Given the description of an element on the screen output the (x, y) to click on. 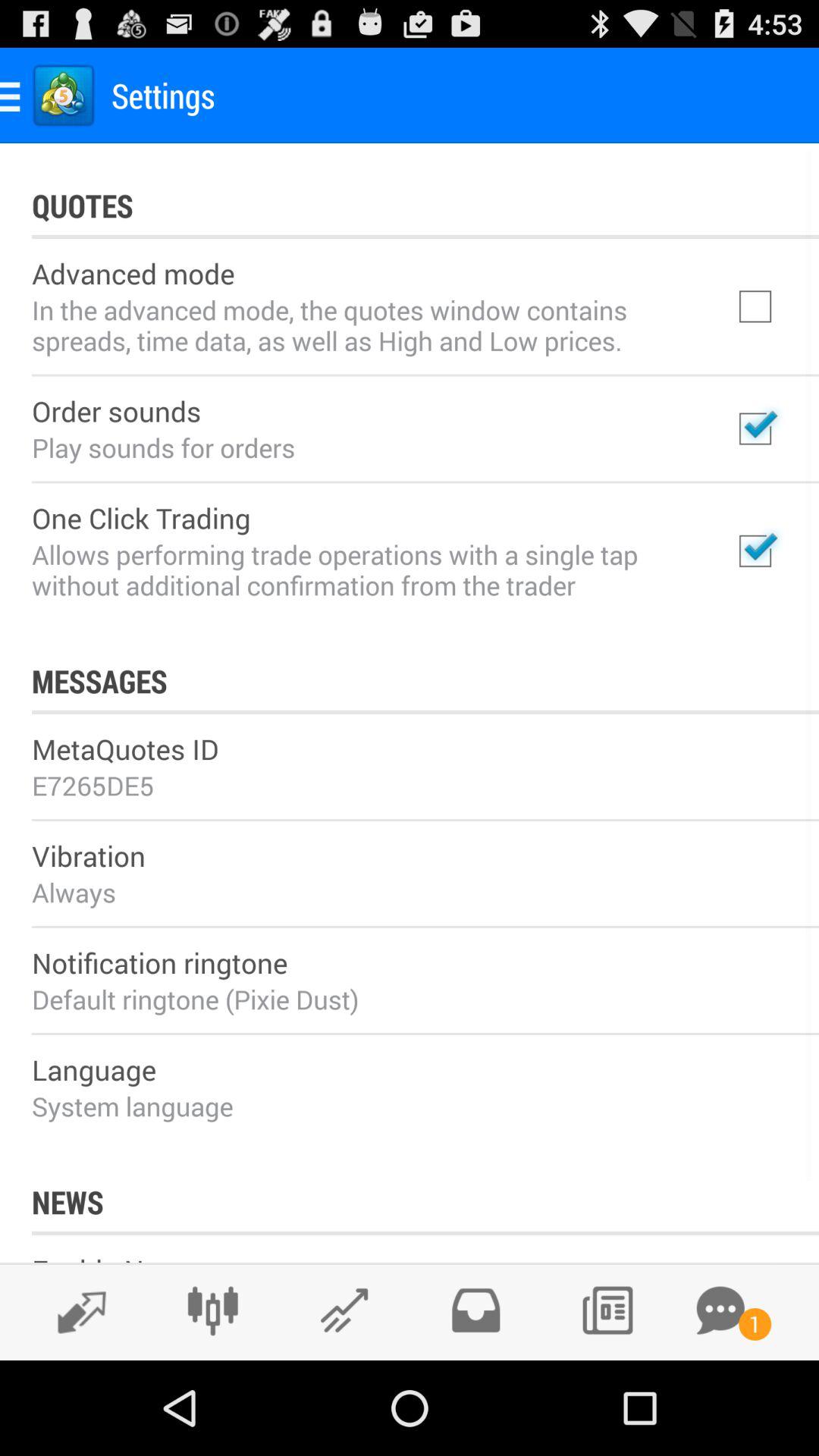
file option (475, 1310)
